Given the description of an element on the screen output the (x, y) to click on. 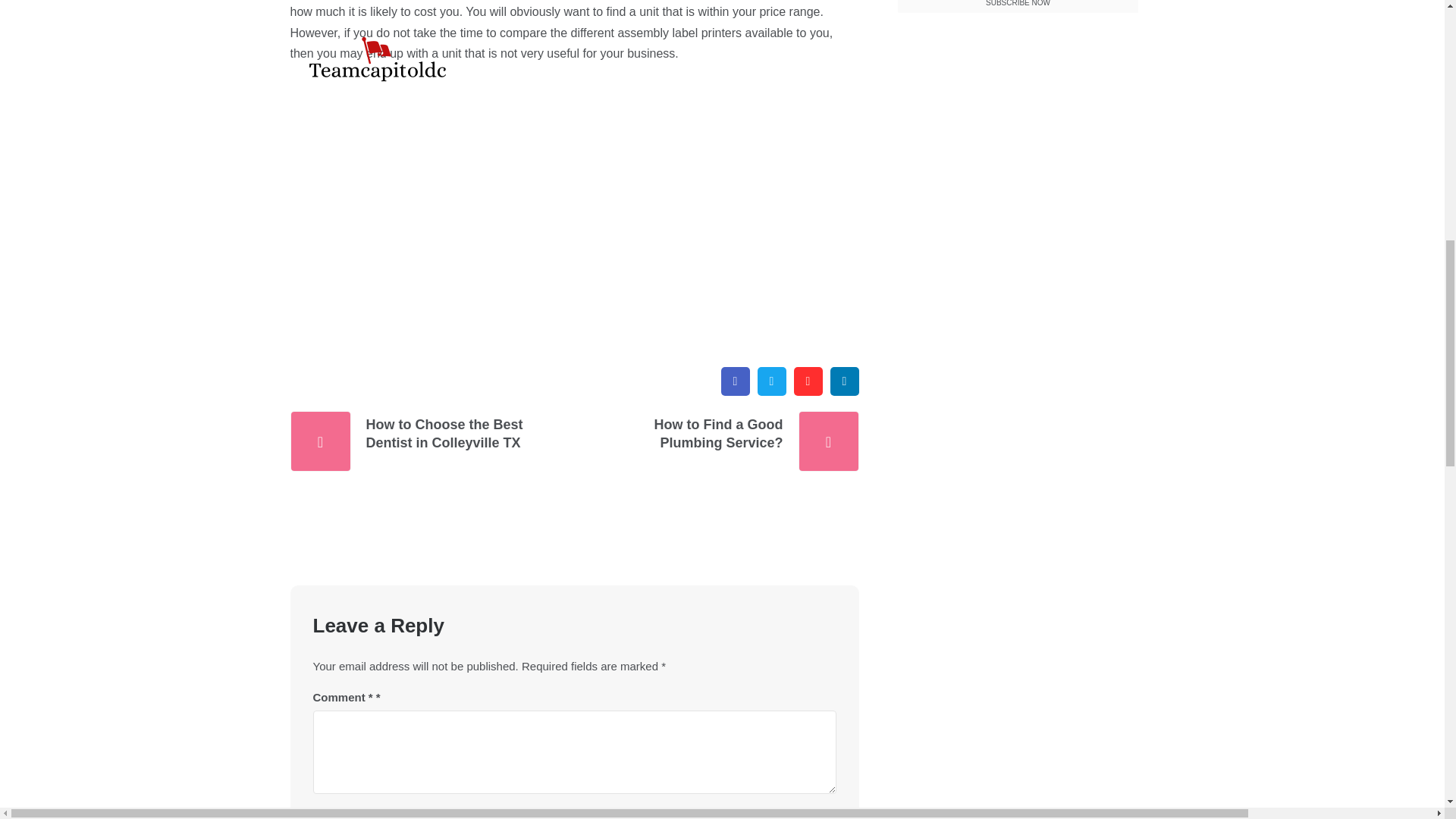
SUBSCRIBE NOW (1017, 6)
How to Choose the Best Dentist in Colleyville TX (444, 433)
How to Find a Good Plumbing Service? (703, 433)
SUBSCRIBE NOW (1017, 6)
